Given the description of an element on the screen output the (x, y) to click on. 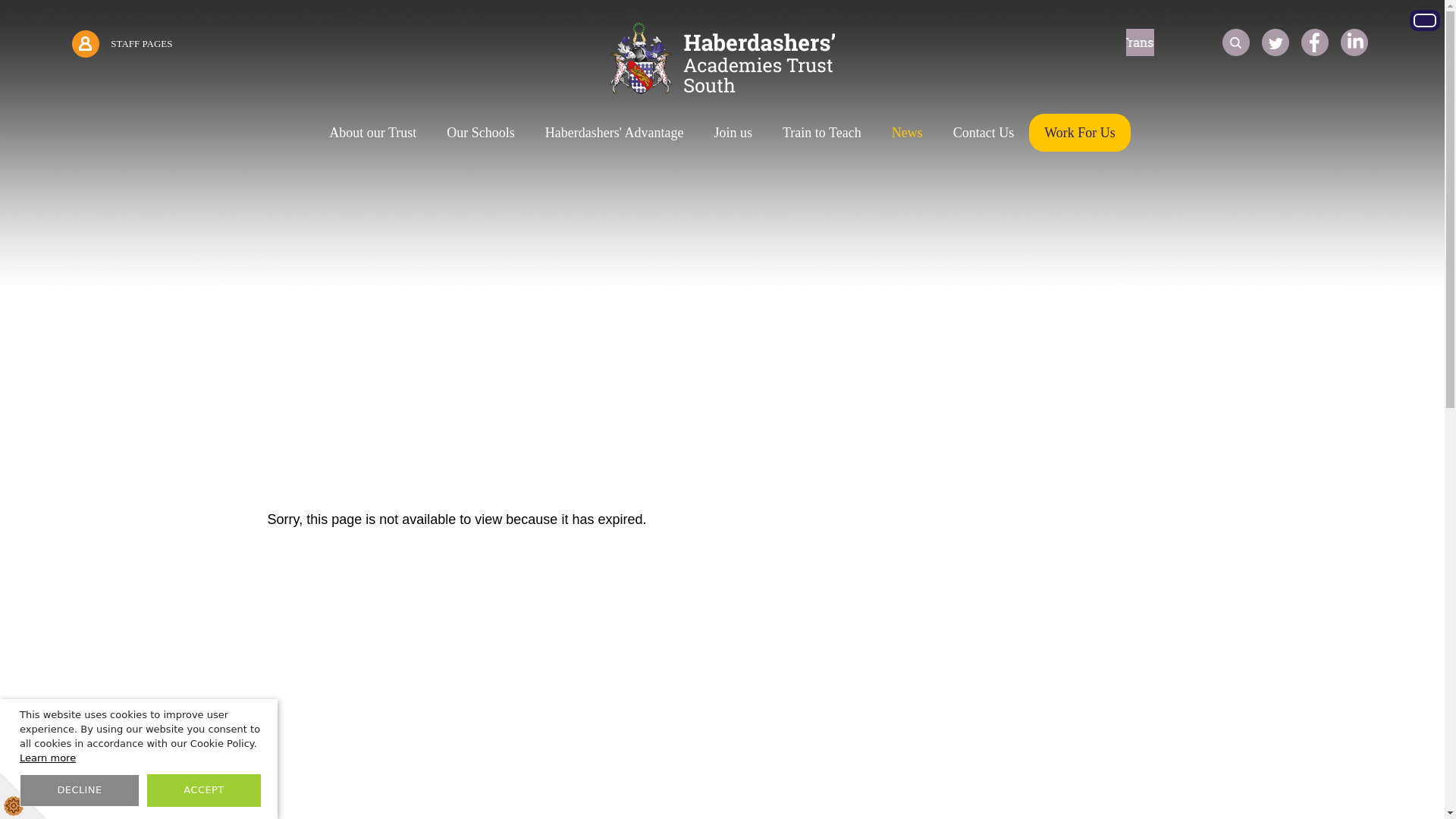
About our Trust (372, 132)
Twitter (1276, 41)
Haberdashers' Advantage (613, 132)
LinkedIn (1354, 41)
Our Schools (479, 132)
Accessibility Menu (1424, 20)
Facebook (1315, 41)
Site search (1236, 41)
